Given the description of an element on the screen output the (x, y) to click on. 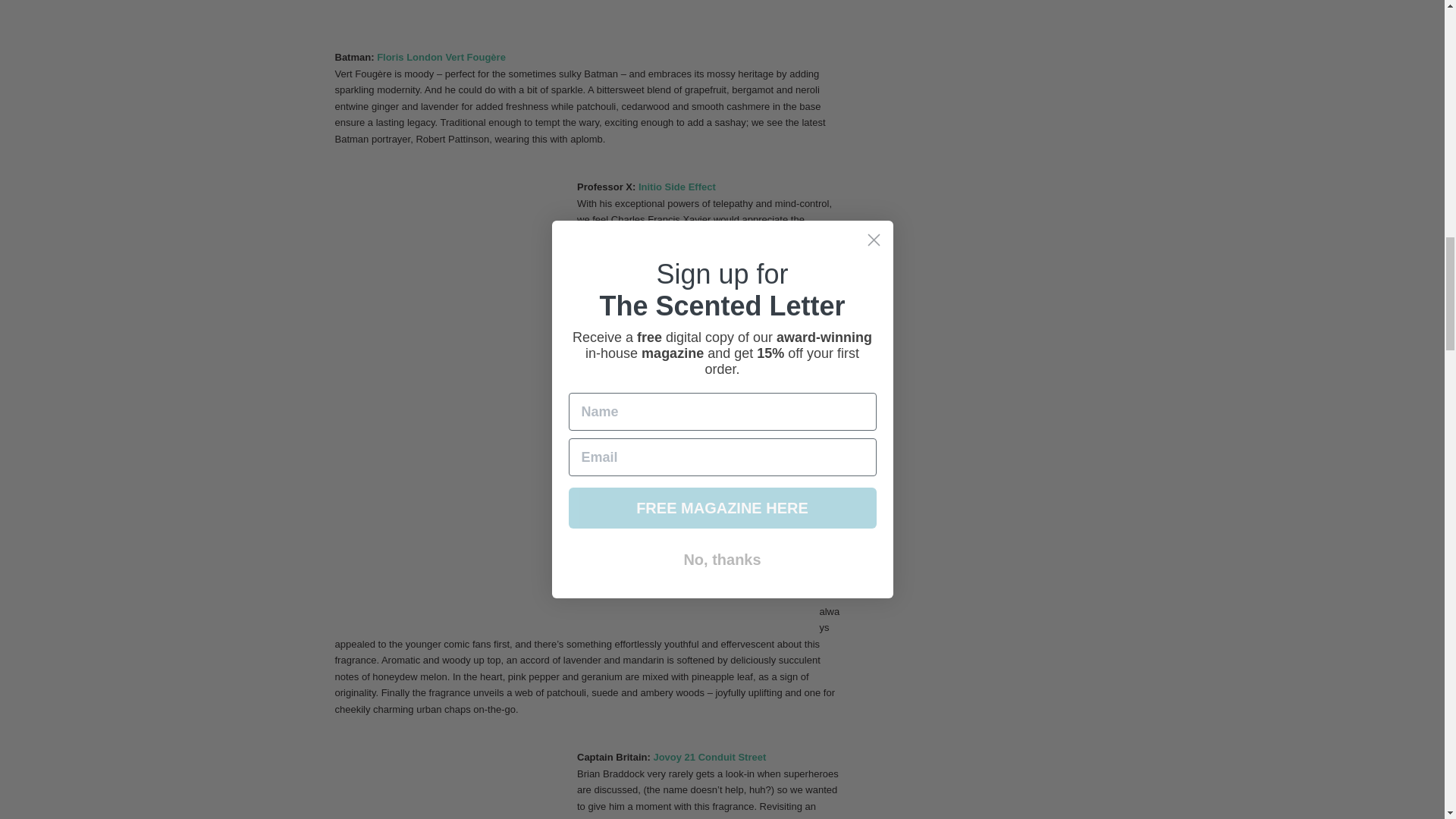
Batman on the cover of Batman: Hush. Art by Jim Lee. (703, 17)
